Given the description of an element on the screen output the (x, y) to click on. 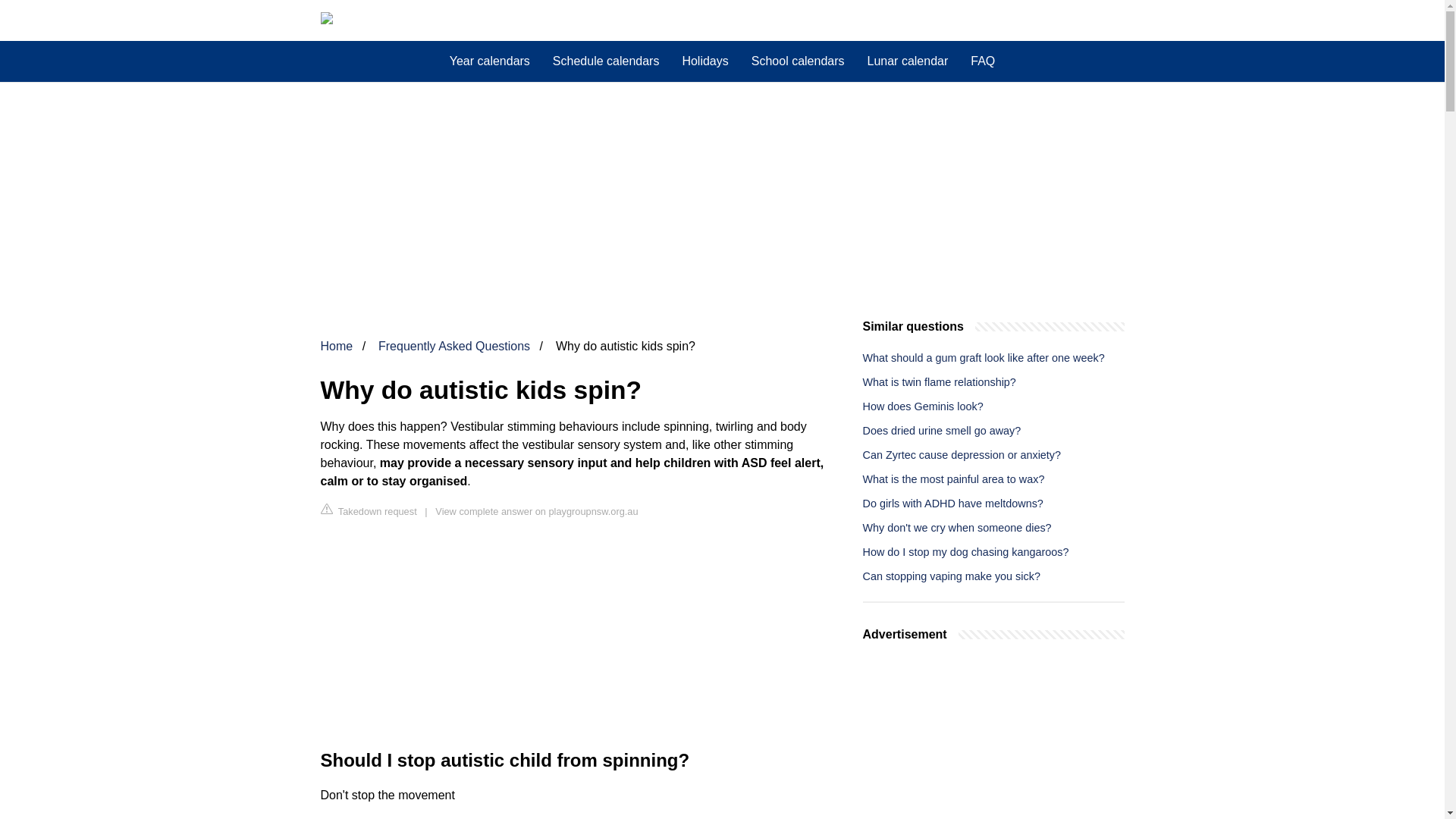
Lunar calendar (907, 60)
Home (336, 345)
Holidays (704, 60)
View complete answer on playgroupnsw.org.au (536, 511)
Frequently Asked Questions (453, 345)
School calendars (797, 60)
Schedule calendars (606, 60)
Takedown request (368, 510)
FAQ (982, 60)
Year calendars (489, 60)
